Given the description of an element on the screen output the (x, y) to click on. 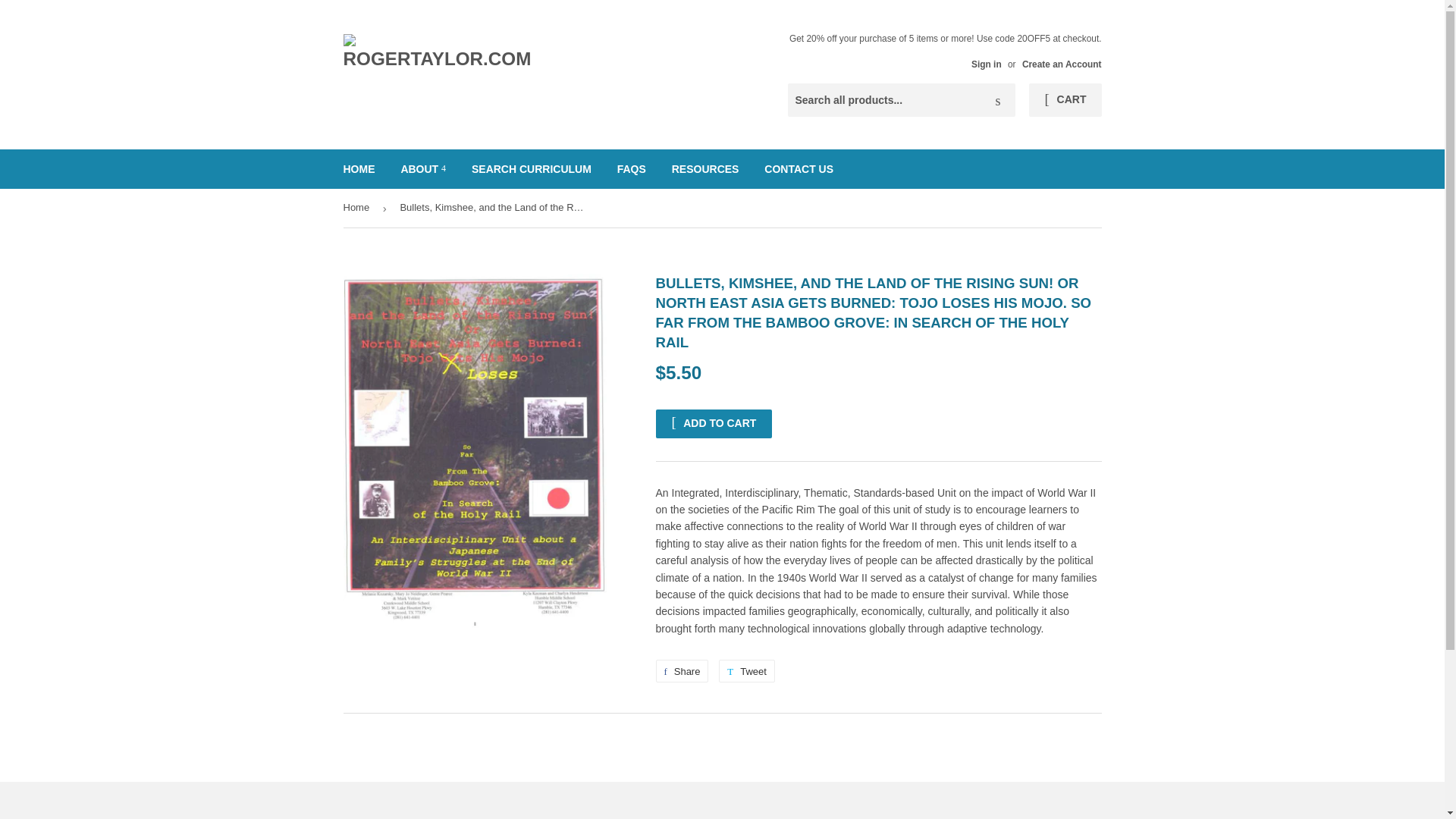
Create an Account (1062, 63)
FAQS (631, 169)
Search (997, 101)
ABOUT (422, 169)
ADD TO CART (713, 423)
Tweet on Twitter (746, 671)
Share on Facebook (746, 671)
RESOURCES (681, 671)
CART (706, 169)
